Given the description of an element on the screen output the (x, y) to click on. 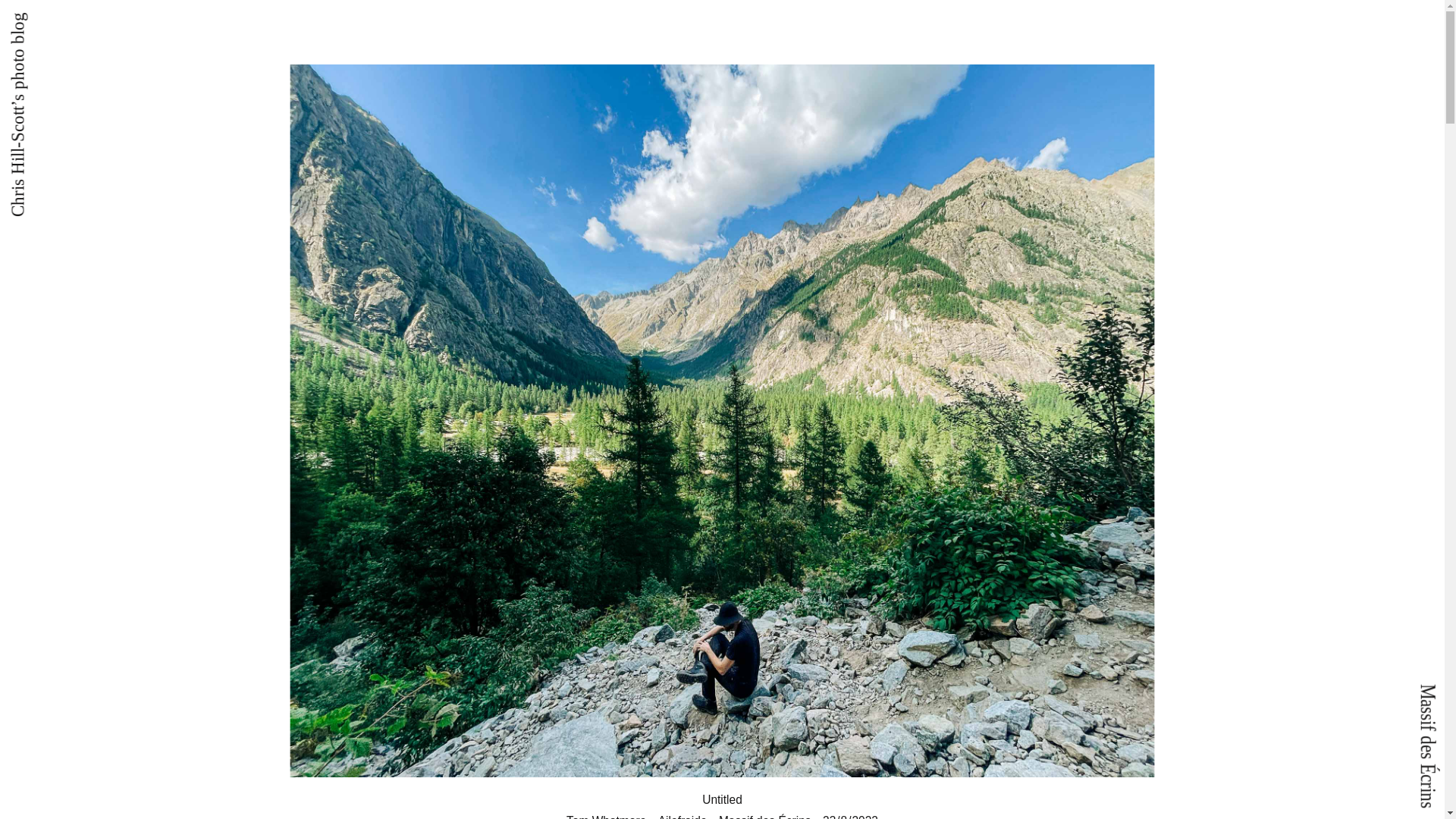
Untitled Element type: text (722, 799)
